Given the description of an element on the screen output the (x, y) to click on. 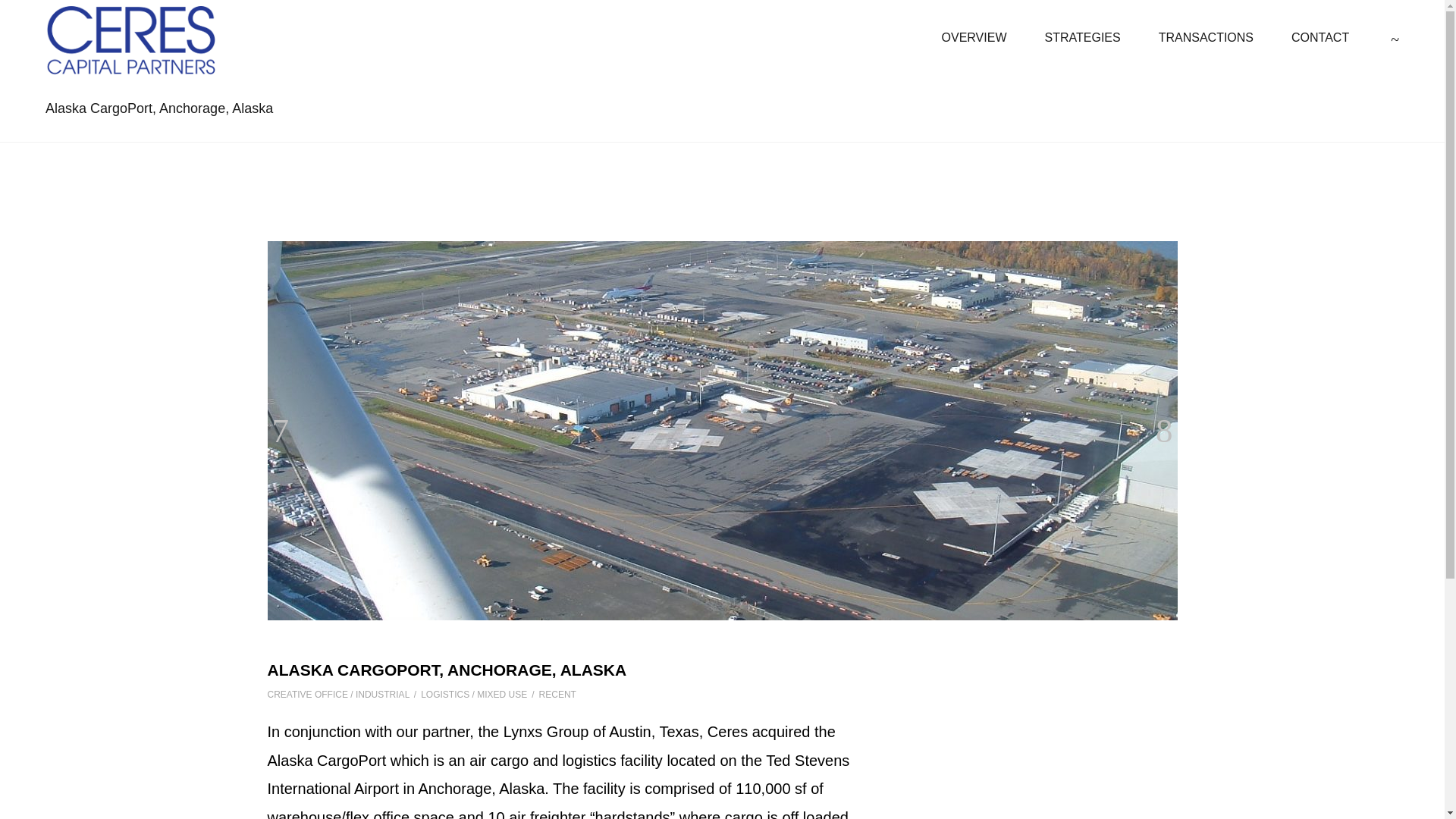
STRATEGIES (1082, 36)
TRANSACTIONS (1206, 36)
CONTACT (1319, 36)
OVERVIEW (973, 36)
